Given the description of an element on the screen output the (x, y) to click on. 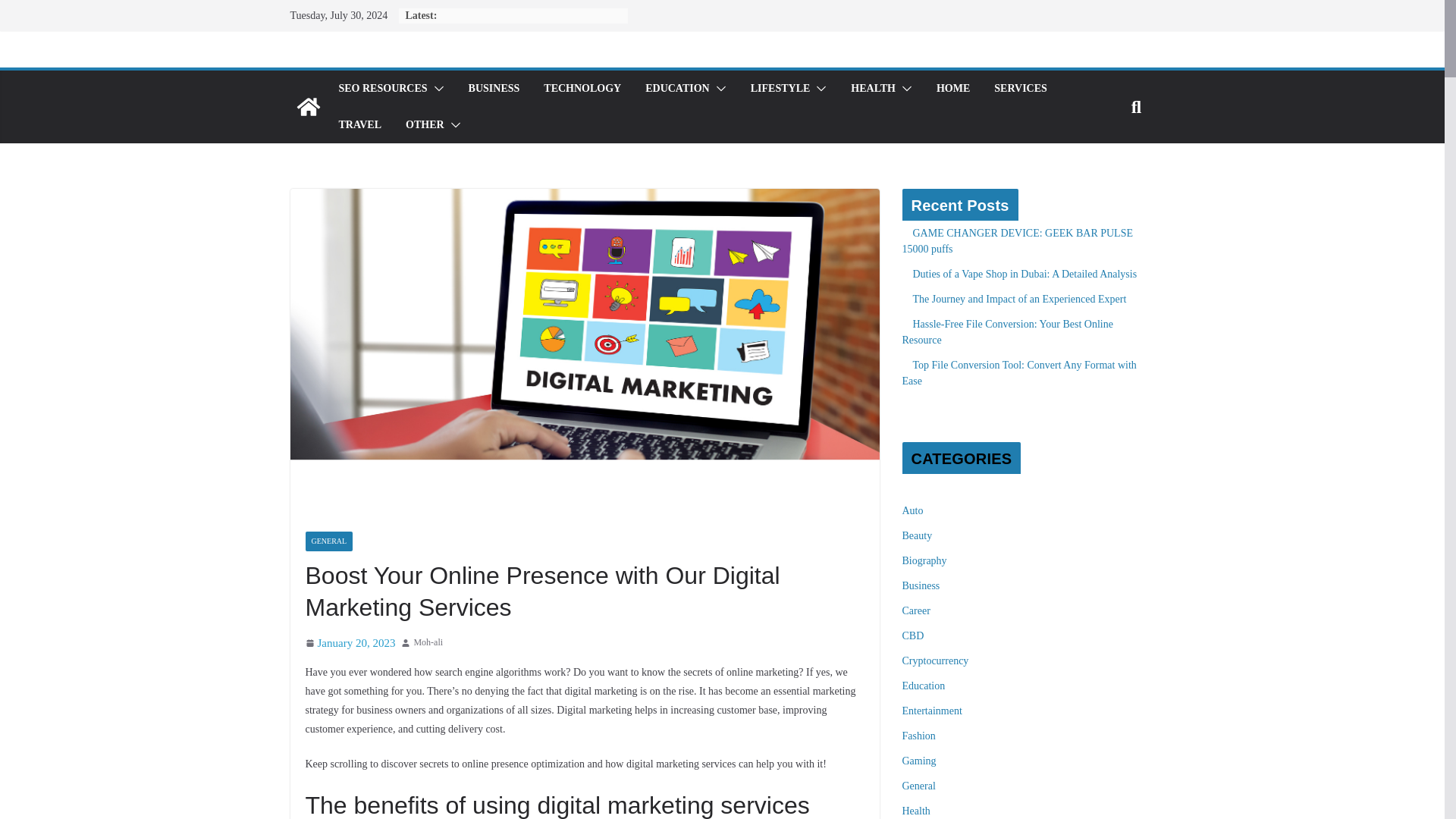
January 20, 2023 (349, 643)
TECHNOLOGY (582, 88)
HEALTH (872, 88)
Moh-ali (427, 642)
BUSINESS (493, 88)
EDUCATION (677, 88)
SEO RESOURCES (381, 88)
Blogpostusa (307, 106)
1:10 pm (349, 643)
GENERAL (328, 541)
HOME (952, 88)
SERVICES (1020, 88)
TRAVEL (359, 124)
Moh-ali (427, 642)
OTHER (425, 124)
